Given the description of an element on the screen output the (x, y) to click on. 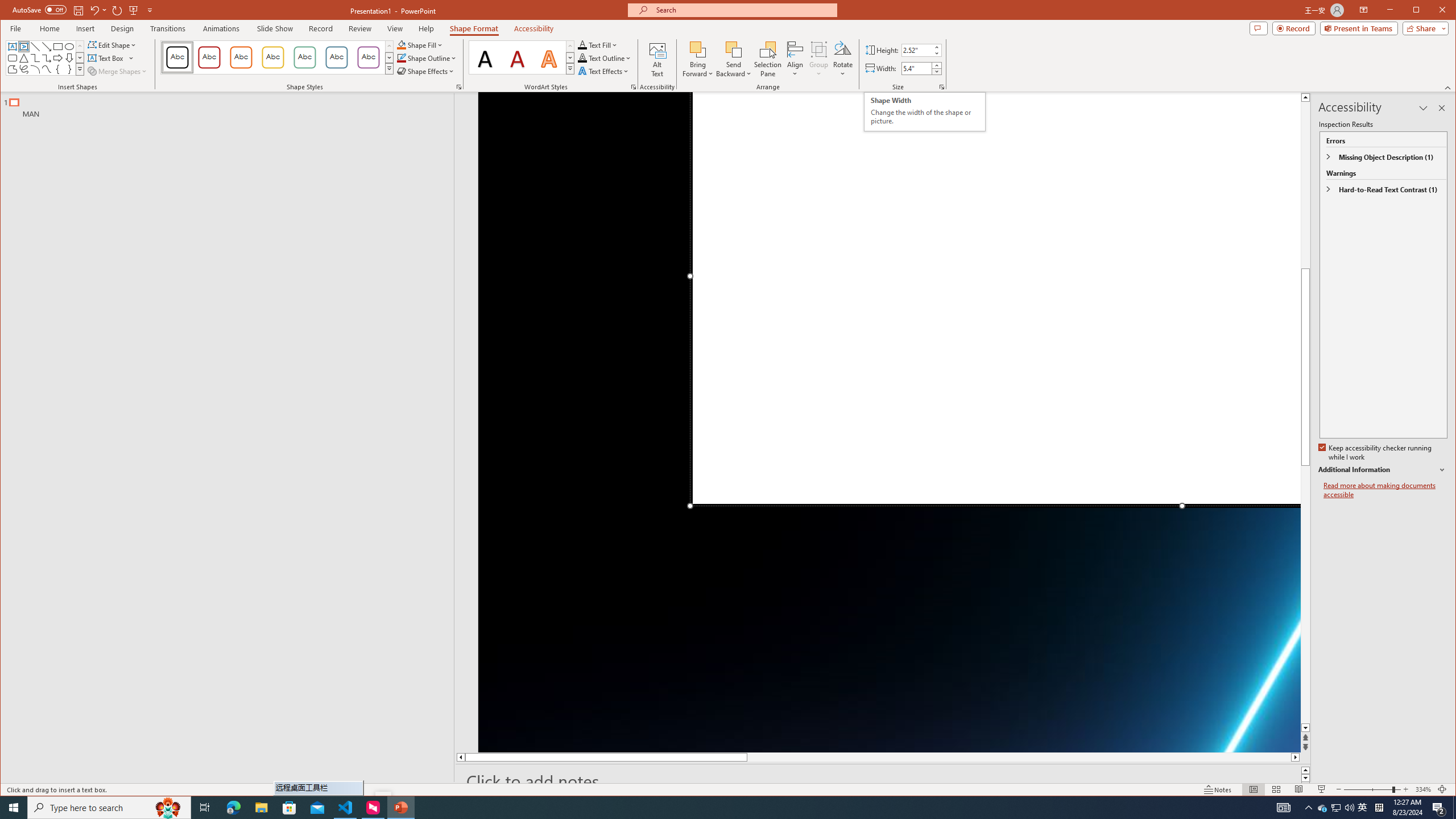
Send Backward (733, 48)
Text Outline (604, 57)
Zoom 334% (1422, 789)
